Given the description of an element on the screen output the (x, y) to click on. 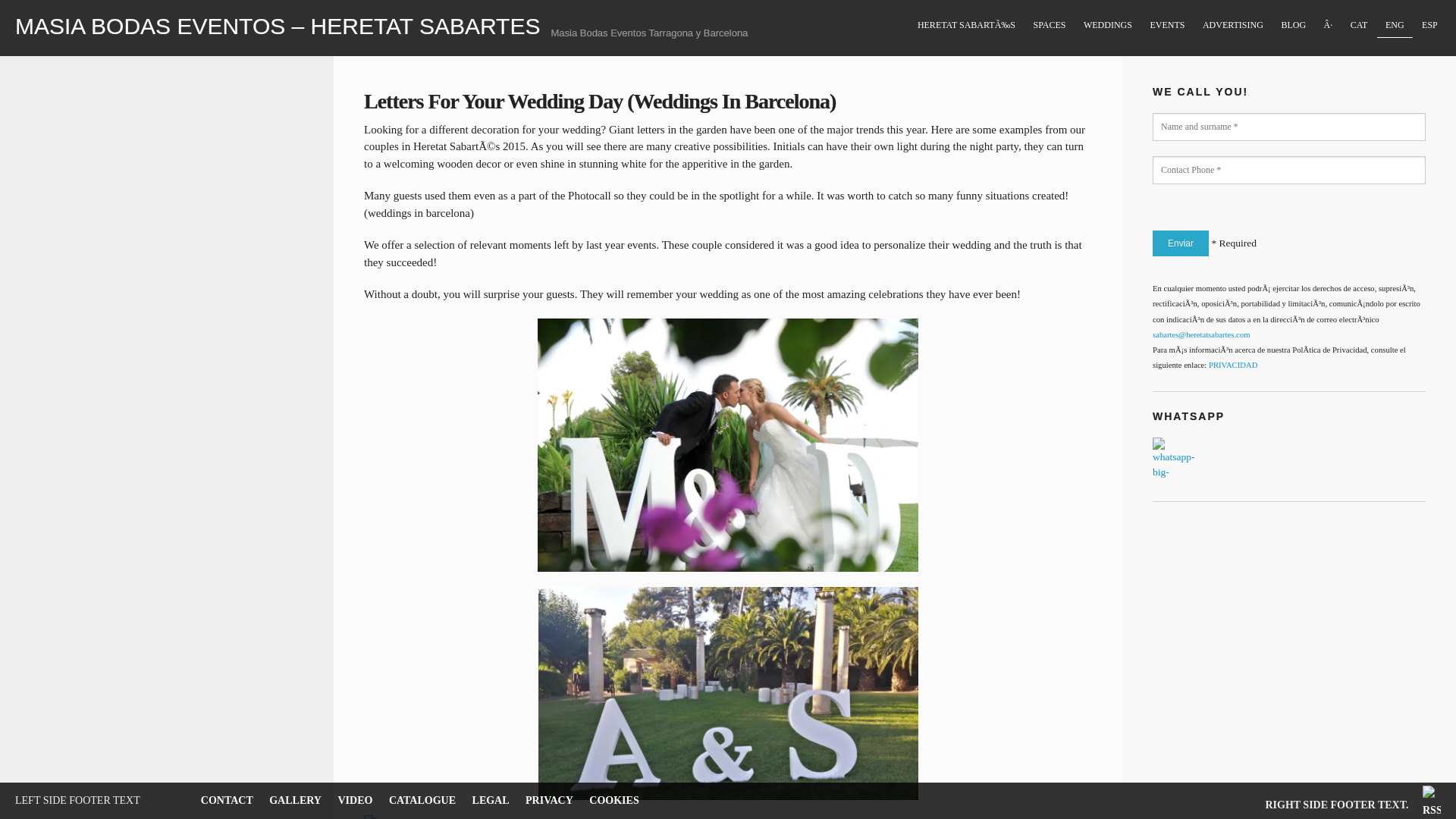
CAT (1357, 24)
PRIVACIDAD (1232, 365)
ADVERTISING (1232, 25)
BLOG (1293, 24)
SPACES (1049, 25)
Enviar (1180, 243)
WEDDINGS (1108, 24)
EVENTS (1167, 24)
ENG (1394, 24)
ADVERTISING (1232, 24)
